Given the description of an element on the screen output the (x, y) to click on. 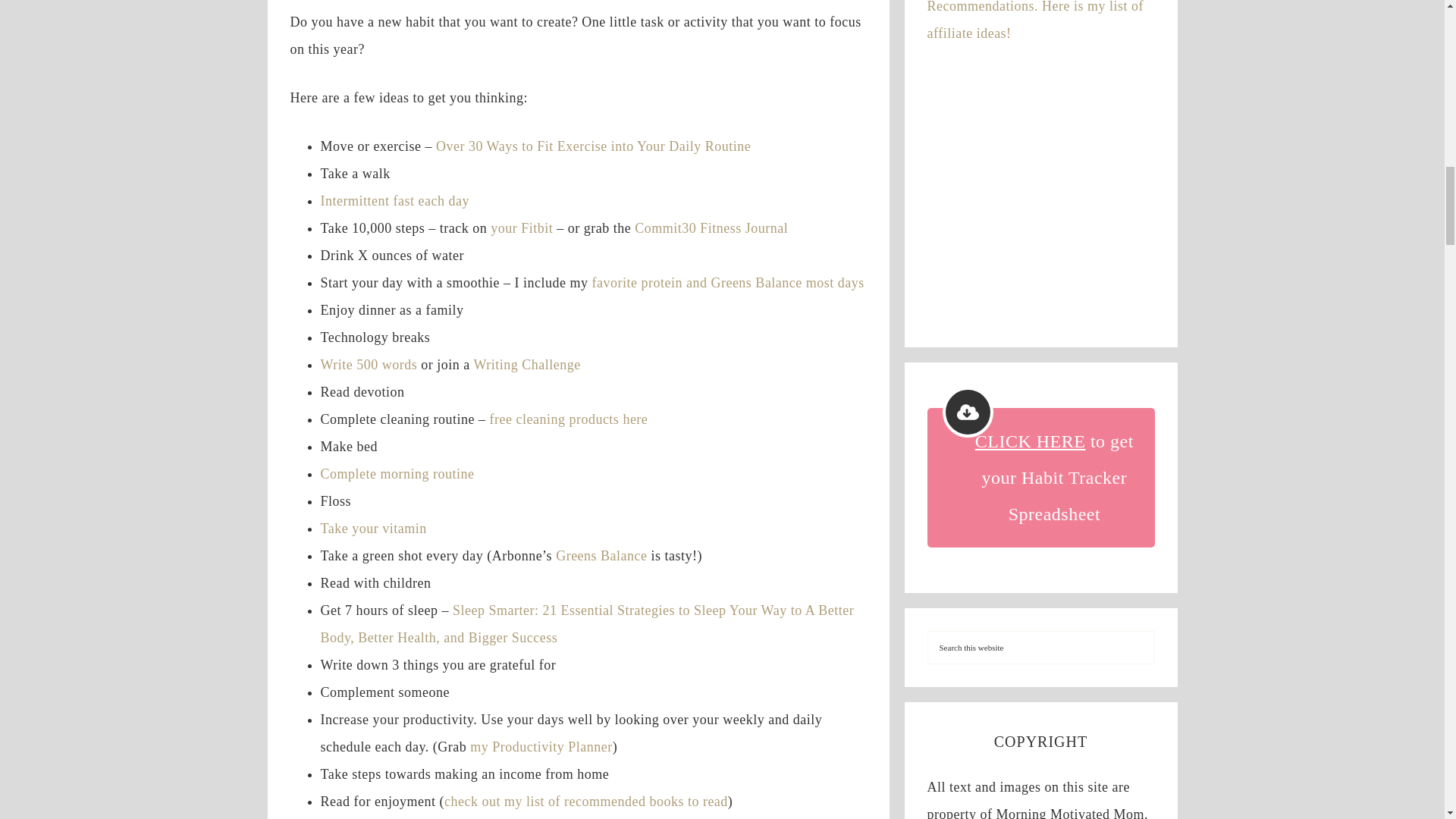
Intermittent fast each day (394, 200)
Over 30 Ways to Fit Exercise into Your Daily Routine (593, 145)
